Given the description of an element on the screen output the (x, y) to click on. 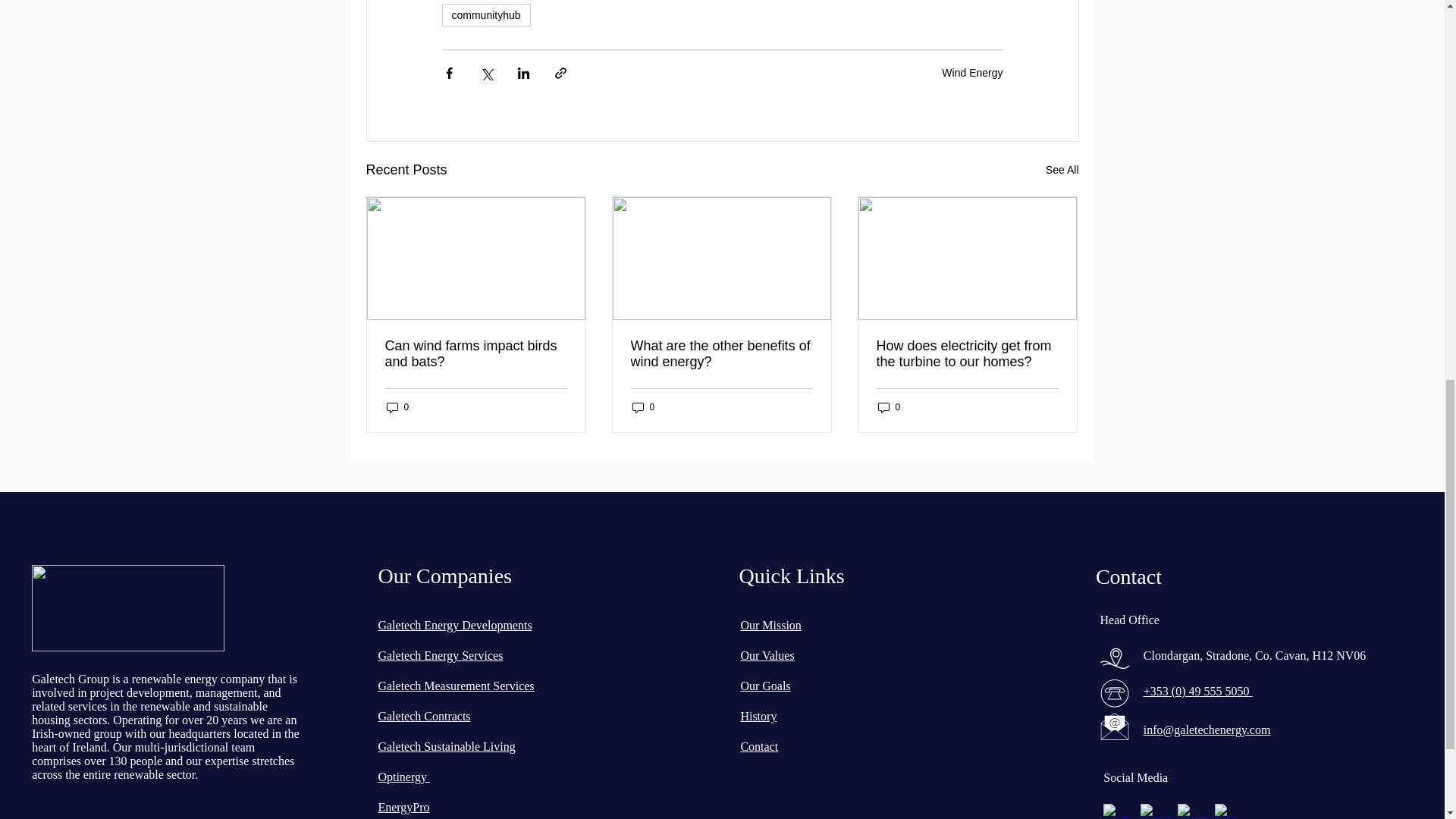
Wind Energy (972, 72)
Galetech Measurement Services (455, 685)
Galetech Energy Services (439, 655)
What are the other benefits of wind energy? (721, 354)
See All (1061, 169)
0 (643, 407)
How does electricity get from the turbine to our homes? (967, 354)
Galetech Contracts (423, 716)
communityhub (485, 15)
Optinergy  (403, 776)
